Given the description of an element on the screen output the (x, y) to click on. 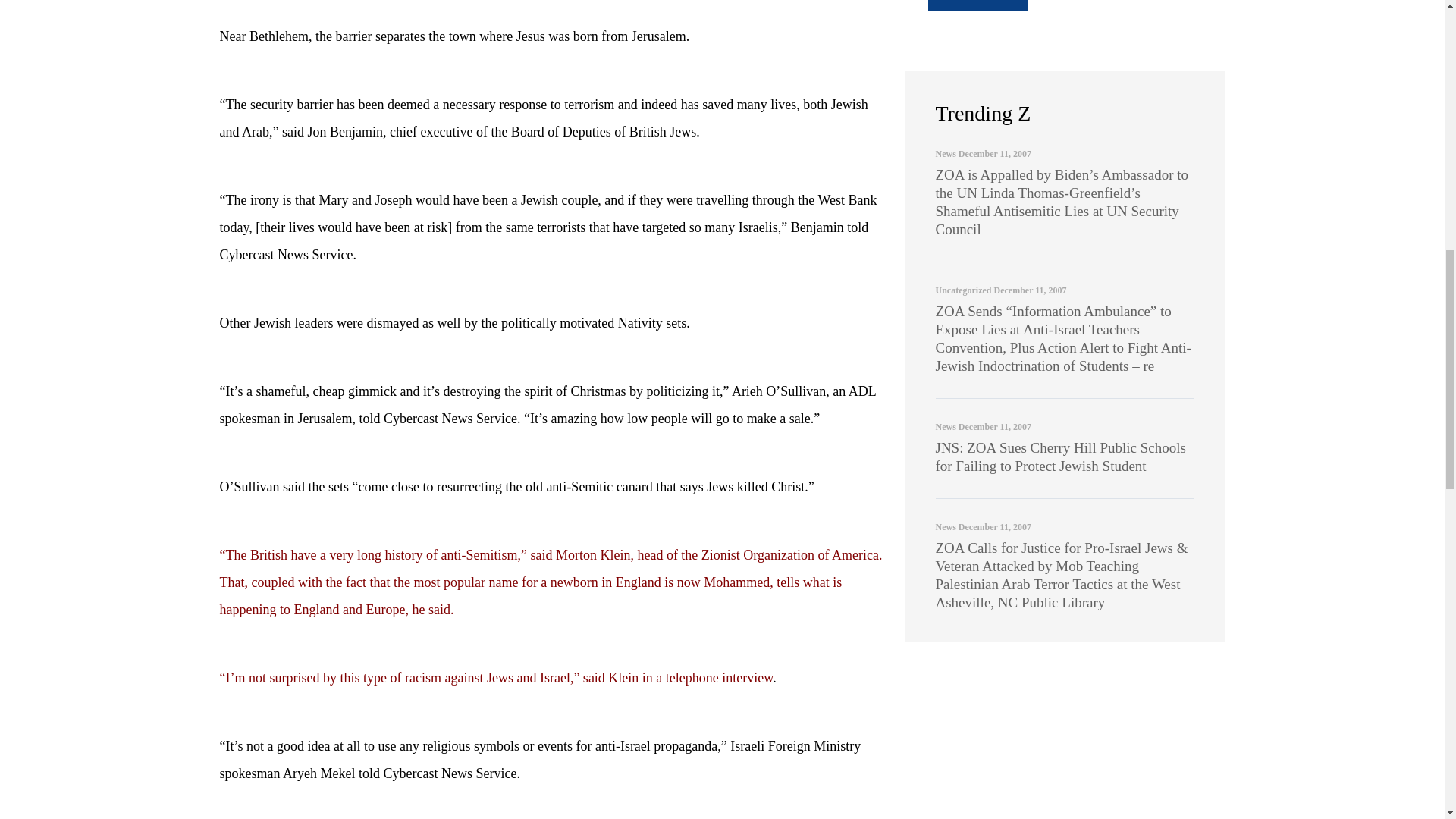
News (946, 426)
News (946, 526)
News (946, 153)
Uncategorized (963, 290)
